Given the description of an element on the screen output the (x, y) to click on. 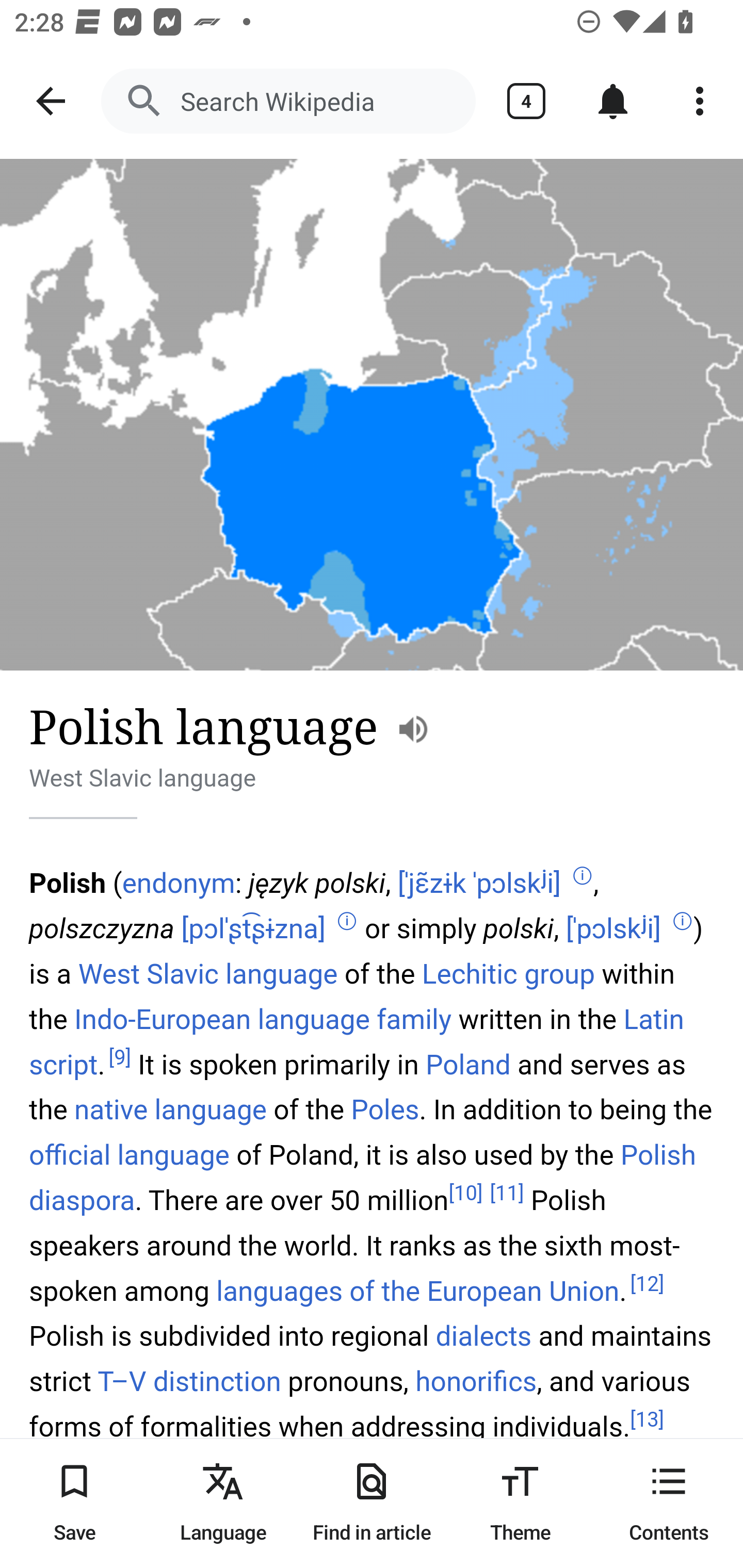
Show tabs 4 (525, 100)
Notifications (612, 100)
Navigate up (50, 101)
More options (699, 101)
Search Wikipedia (288, 100)
Image: Polish language (371, 414)
ⓘ (581, 875)
endonym (178, 883)
[ˈjɛ̃zɨk ˈpɔlskʲi] [ ˈjɛ̃zɨk   ˈpɔlskʲi ] (479, 883)
ⓘ (346, 920)
ⓘ (681, 920)
[pɔlˈʂt͡ʂɨzna] [ pɔlˈʂt͡ʂɨzna ] (253, 928)
[ˈpɔlskʲi] [ ˈpɔlskʲi ] (613, 928)
West Slavic language (208, 973)
Lechitic group (507, 973)
Latin script (356, 1040)
Indo-European language family (263, 1018)
[] [ 9 ] (119, 1056)
Poland (467, 1063)
native language (170, 1109)
Poles (385, 1109)
official language (129, 1155)
Polish diaspora (362, 1177)
[] [ 10 ] (465, 1192)
[] [ 11 ] (506, 1192)
[] [ 12 ] (647, 1284)
languages of the European Union (417, 1291)
dialects (483, 1335)
T–V distinction (189, 1381)
honorifics (476, 1381)
[] [ 13 ] (647, 1419)
Save (74, 1502)
Language (222, 1502)
Find in article (371, 1502)
Theme (519, 1502)
Contents (668, 1502)
